Given the description of an element on the screen output the (x, y) to click on. 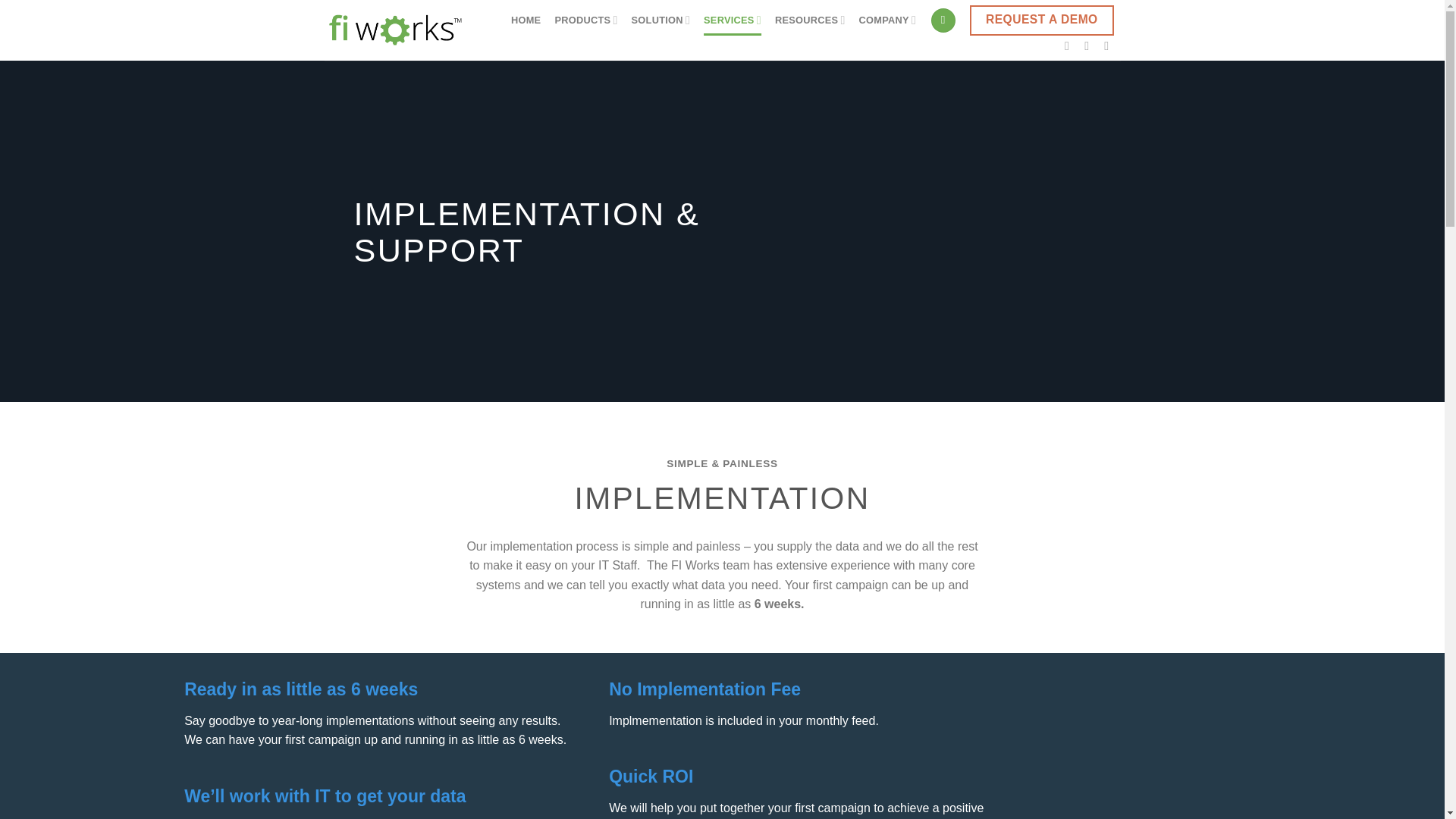
SERVICES (732, 19)
HOME (525, 20)
Follow on LinkedIn (1090, 45)
COMPANY (888, 19)
PRODUCTS (585, 19)
REQUEST A DEMO (1041, 19)
Follow on YouTube (1109, 45)
RESOURCES (809, 19)
SOLUTION (660, 19)
